Given the description of an element on the screen output the (x, y) to click on. 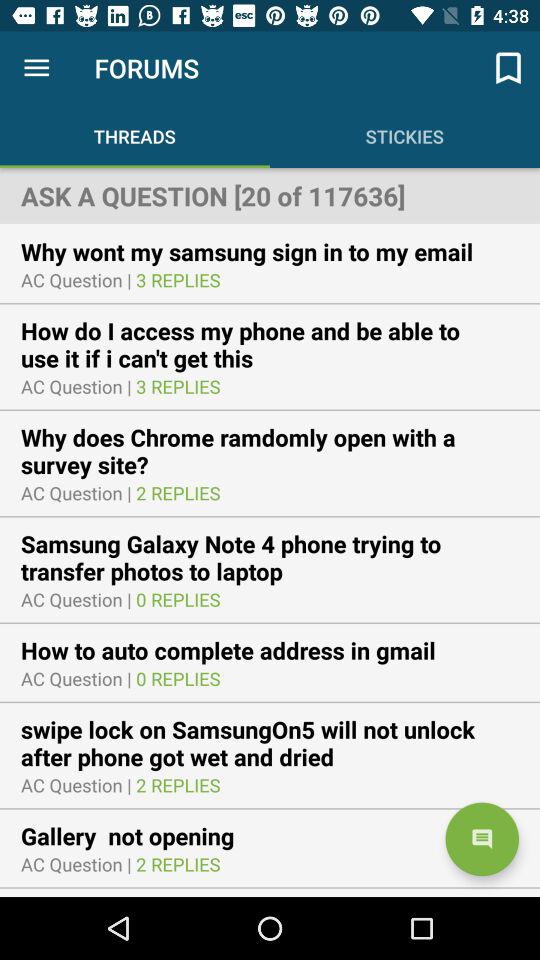
turn off icon next to the forums icon (508, 67)
